Given the description of an element on the screen output the (x, y) to click on. 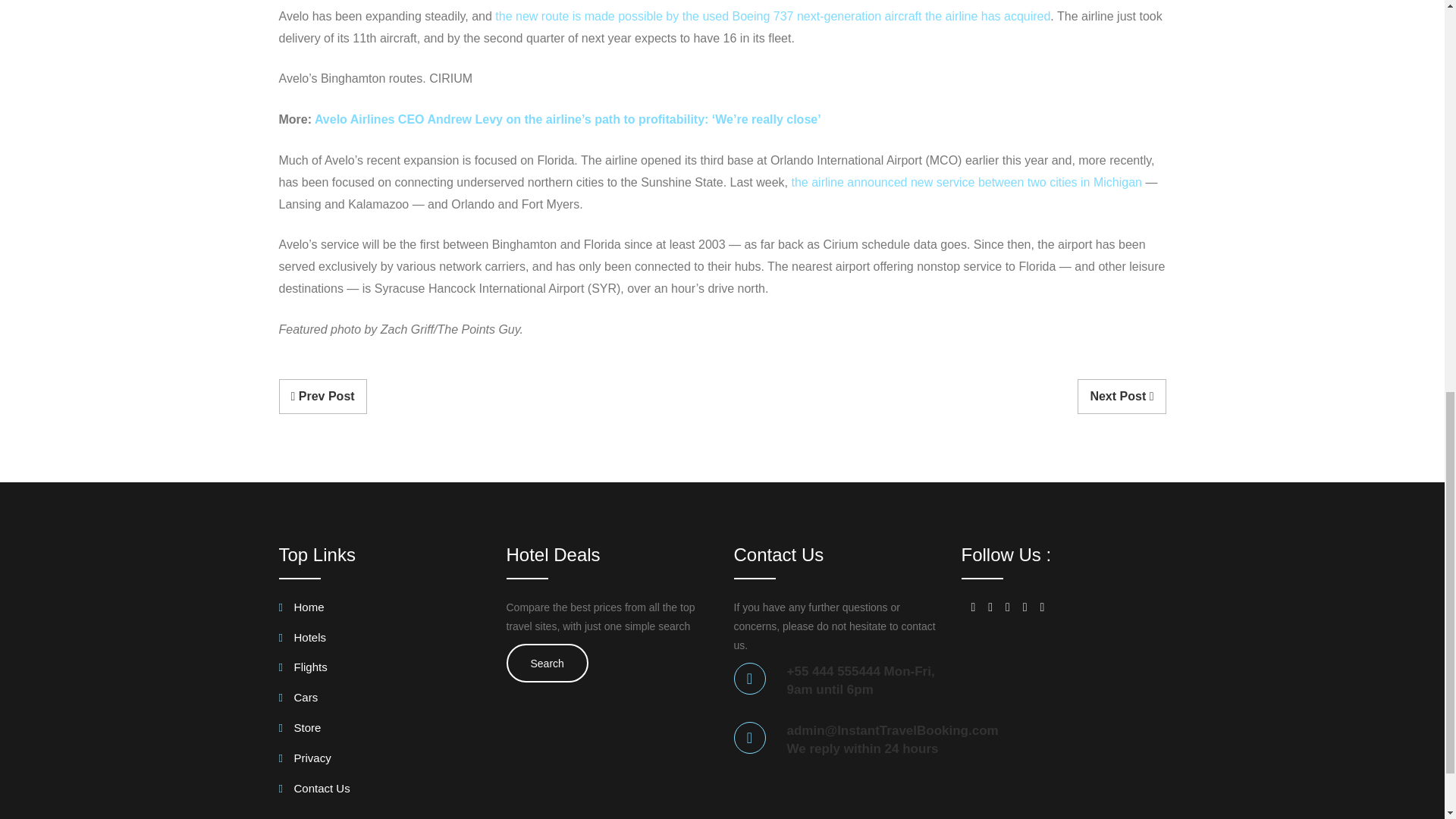
Cars (298, 699)
Prev Post (322, 396)
Next Post (1121, 396)
Hotels (302, 639)
Privacy (305, 761)
Store (300, 730)
Search (547, 662)
Home (301, 609)
Flights (303, 669)
Contact Us (314, 791)
